Given the description of an element on the screen output the (x, y) to click on. 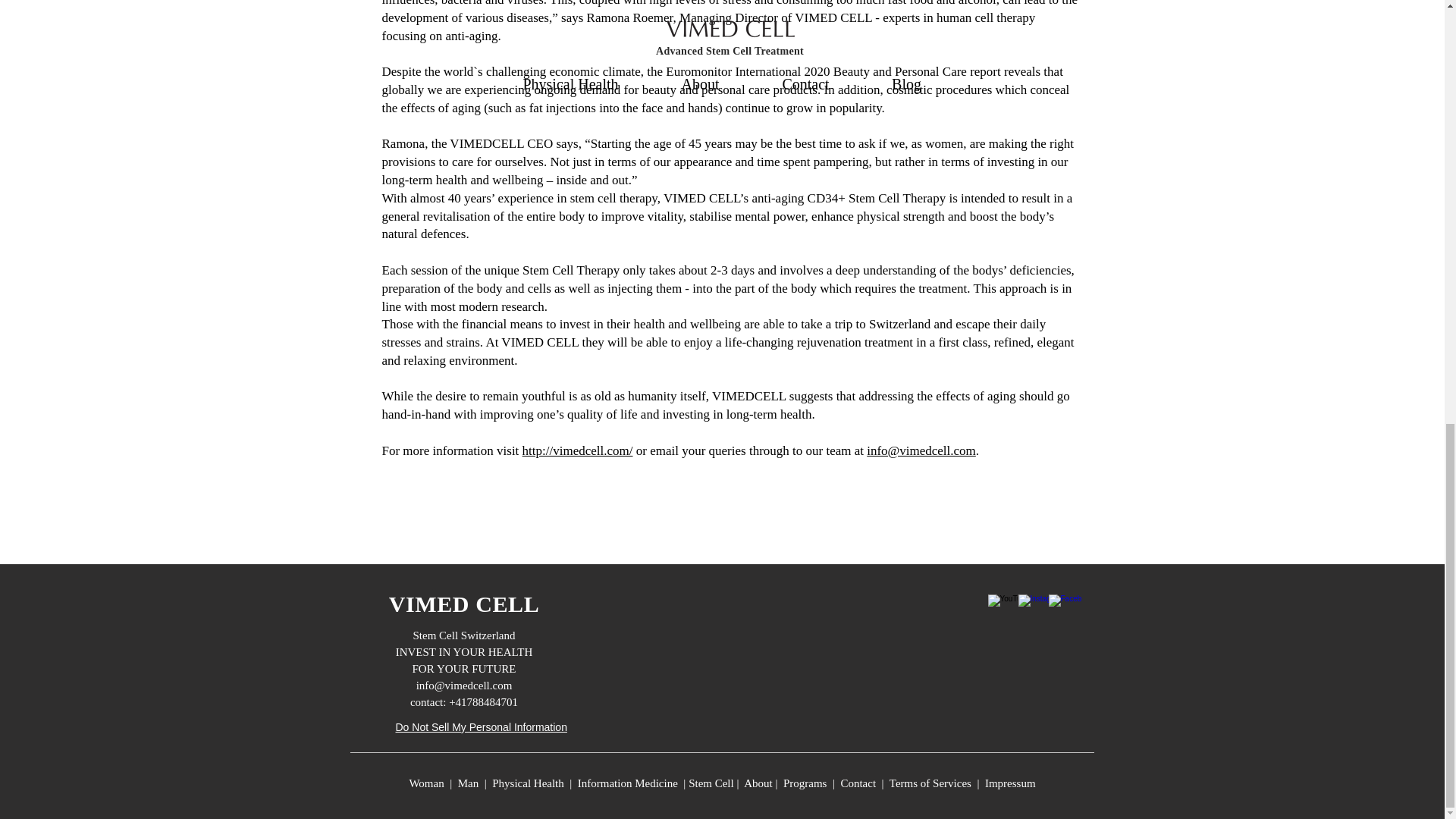
Terms of Services (930, 783)
Impressum (1010, 783)
Physical Health (528, 783)
About (759, 783)
Programs (805, 783)
Contact   (860, 783)
Information Medicine (628, 783)
Do Not Sell My Personal Information (481, 727)
Woman (426, 783)
VIMED CELL (464, 603)
Stem Cell (710, 783)
Man (468, 783)
